Given the description of an element on the screen output the (x, y) to click on. 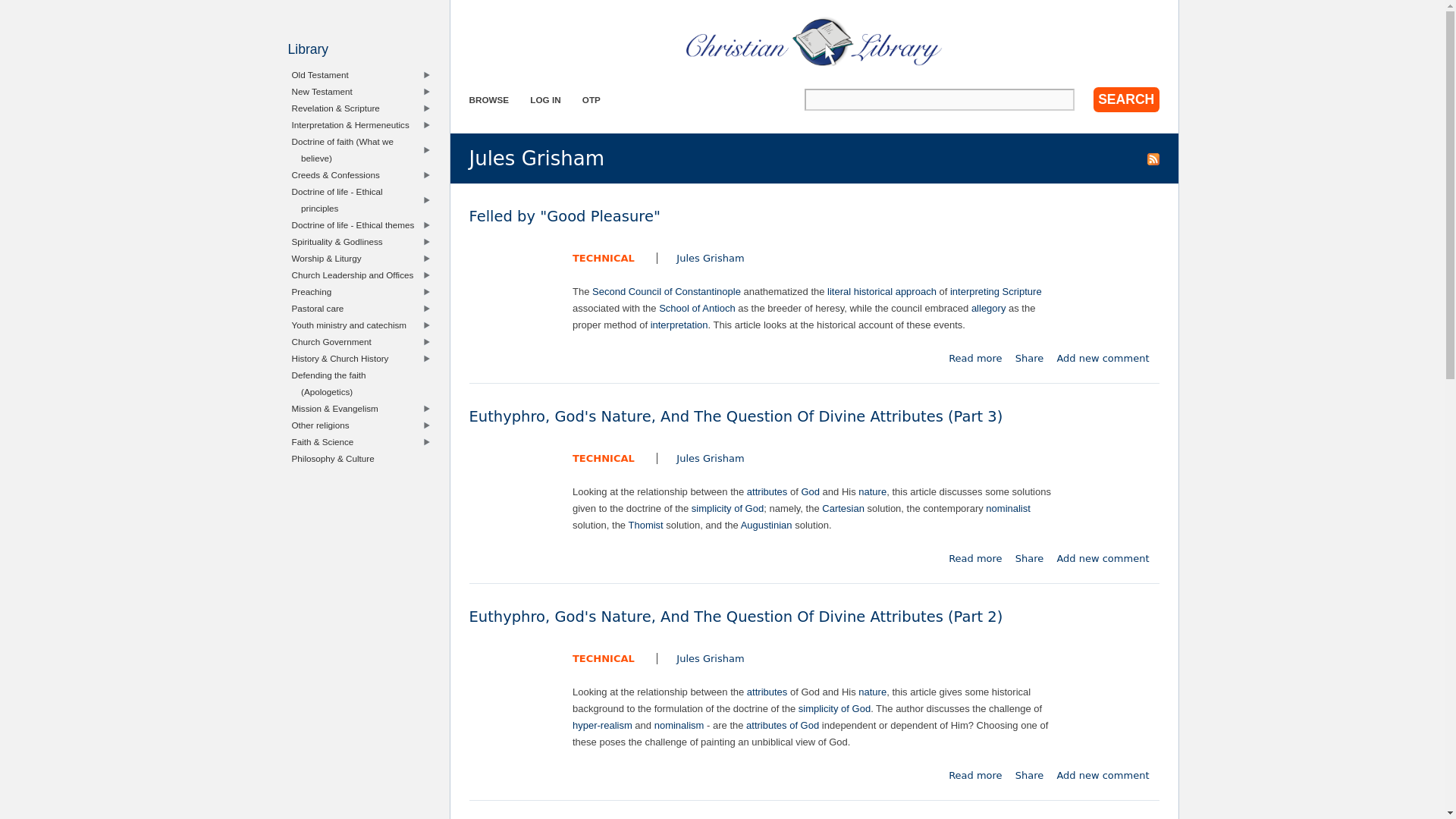
God (809, 491)
Jules Grisham (710, 257)
Search (1125, 99)
Thomist (644, 524)
interpreting Scripture (996, 291)
BROWSE (488, 99)
attributes (766, 491)
attributes (766, 691)
Second Council of Constantinople (666, 291)
Add a new comment to this page. (1102, 558)
simplicity of God (975, 357)
OTP (726, 508)
Augustinian (590, 99)
LOG IN (766, 524)
